Given the description of an element on the screen output the (x, y) to click on. 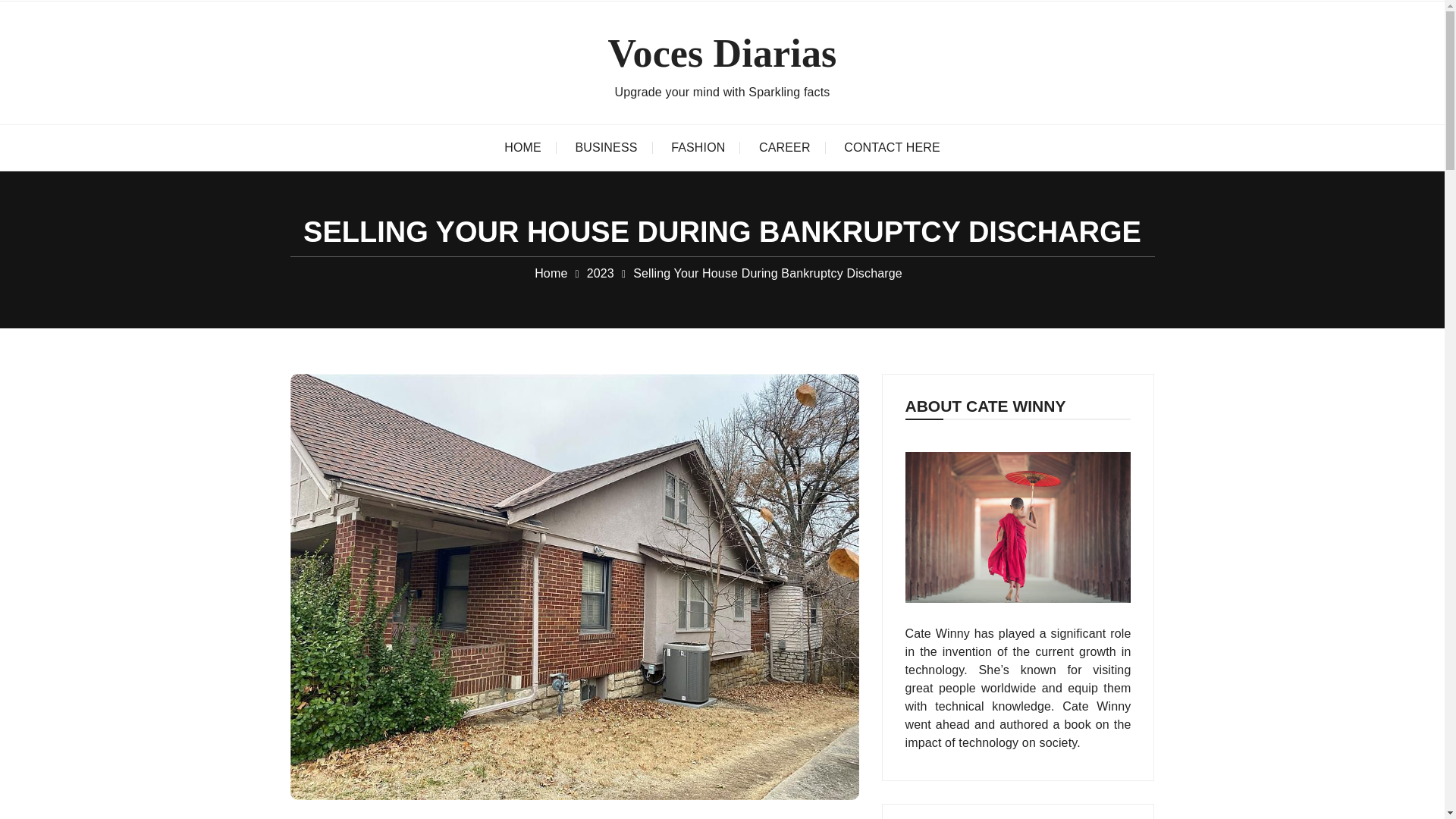
HOME (522, 147)
2023 (600, 273)
BUSINESS (605, 147)
Home (550, 273)
Voces Diarias (722, 53)
CAREER (784, 147)
CONTACT HERE (891, 147)
FASHION (697, 147)
